Given the description of an element on the screen output the (x, y) to click on. 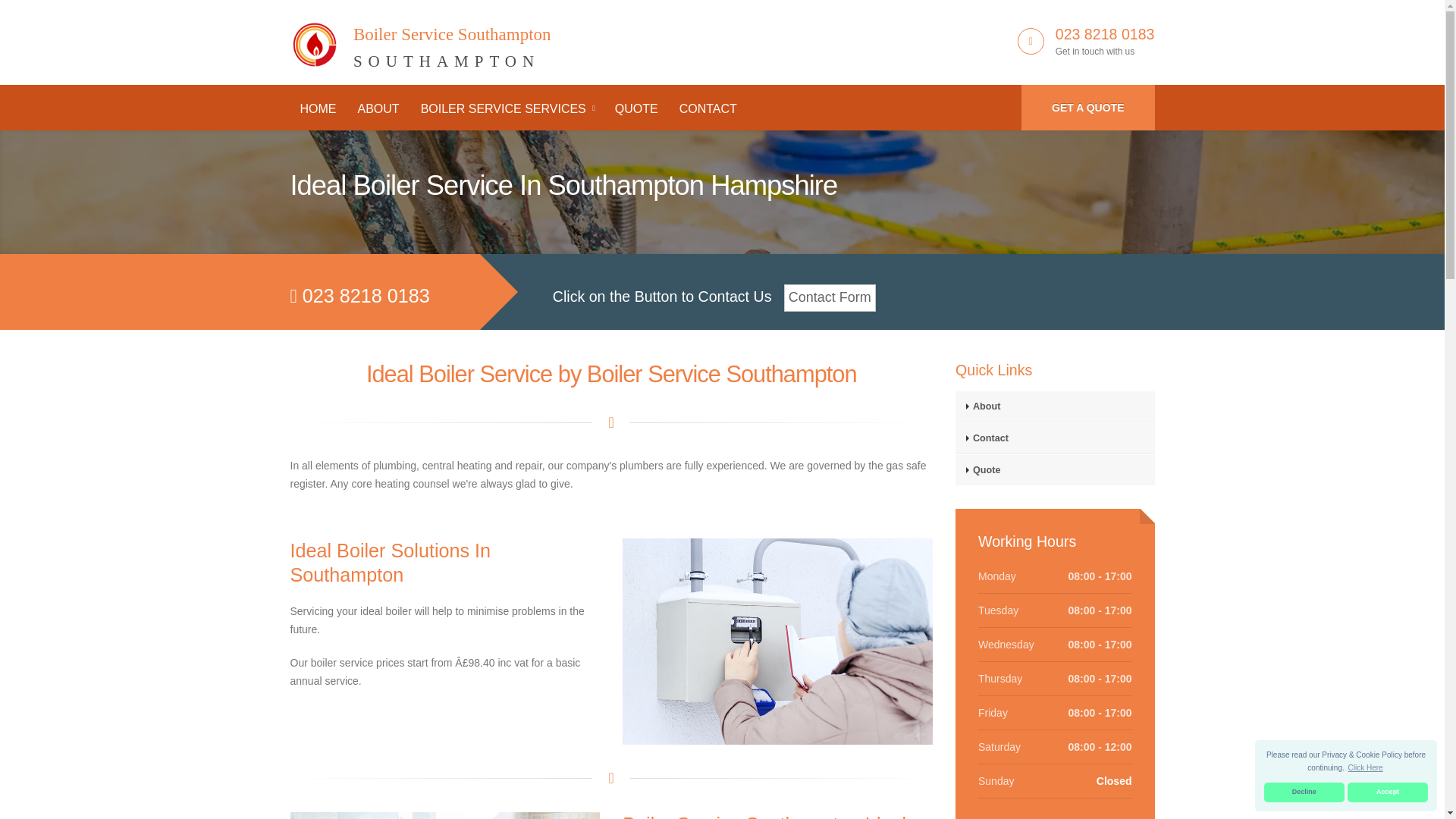
ABOUT (378, 109)
BOILER SERVICE SERVICES (507, 109)
Accept (1388, 792)
HOME (317, 109)
GET A QUOTE (1088, 107)
Decline (1303, 792)
023 8218 0183 (1104, 33)
Click Here (419, 38)
